Given the description of an element on the screen output the (x, y) to click on. 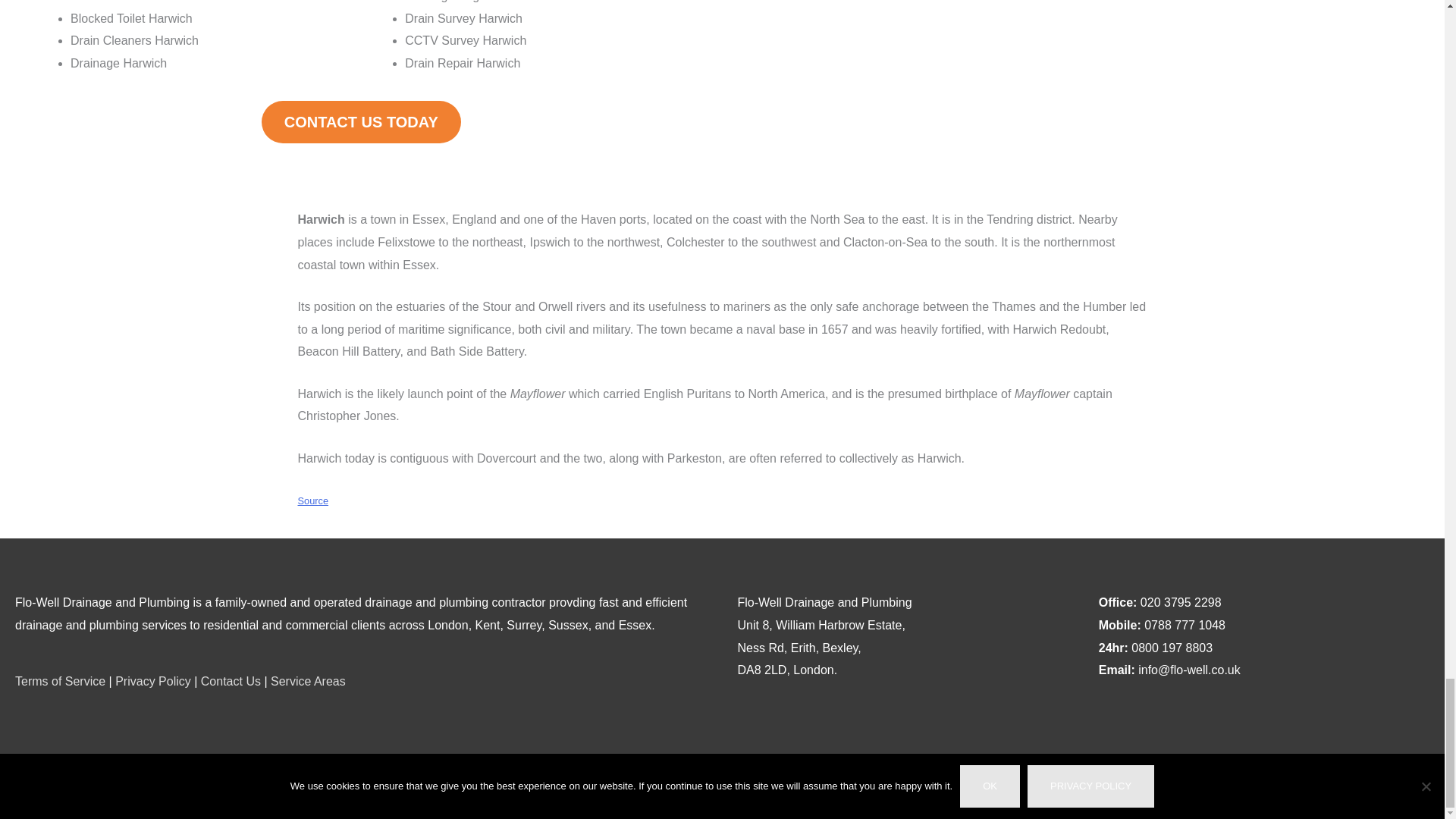
Harwich, Essex (1083, 77)
